Given the description of an element on the screen output the (x, y) to click on. 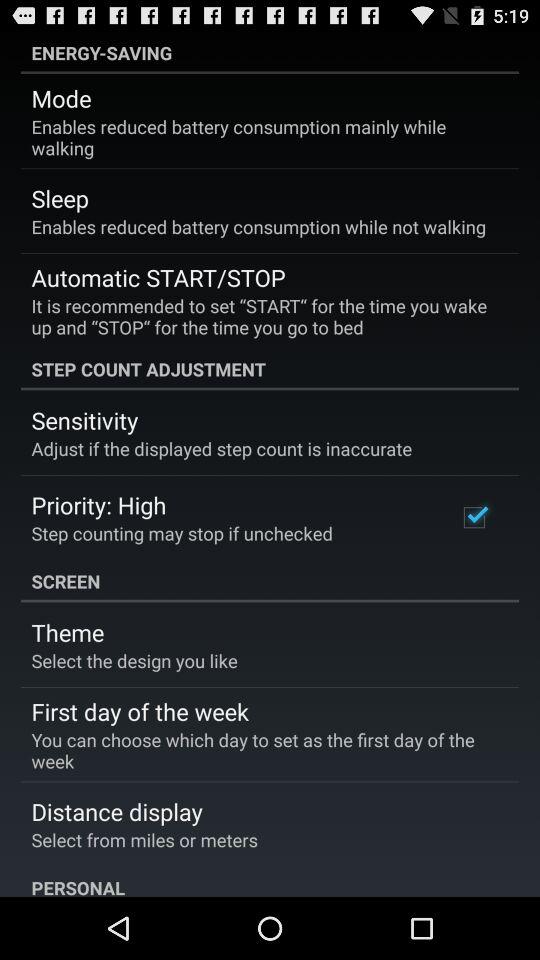
jump to the it is recommended (263, 316)
